Given the description of an element on the screen output the (x, y) to click on. 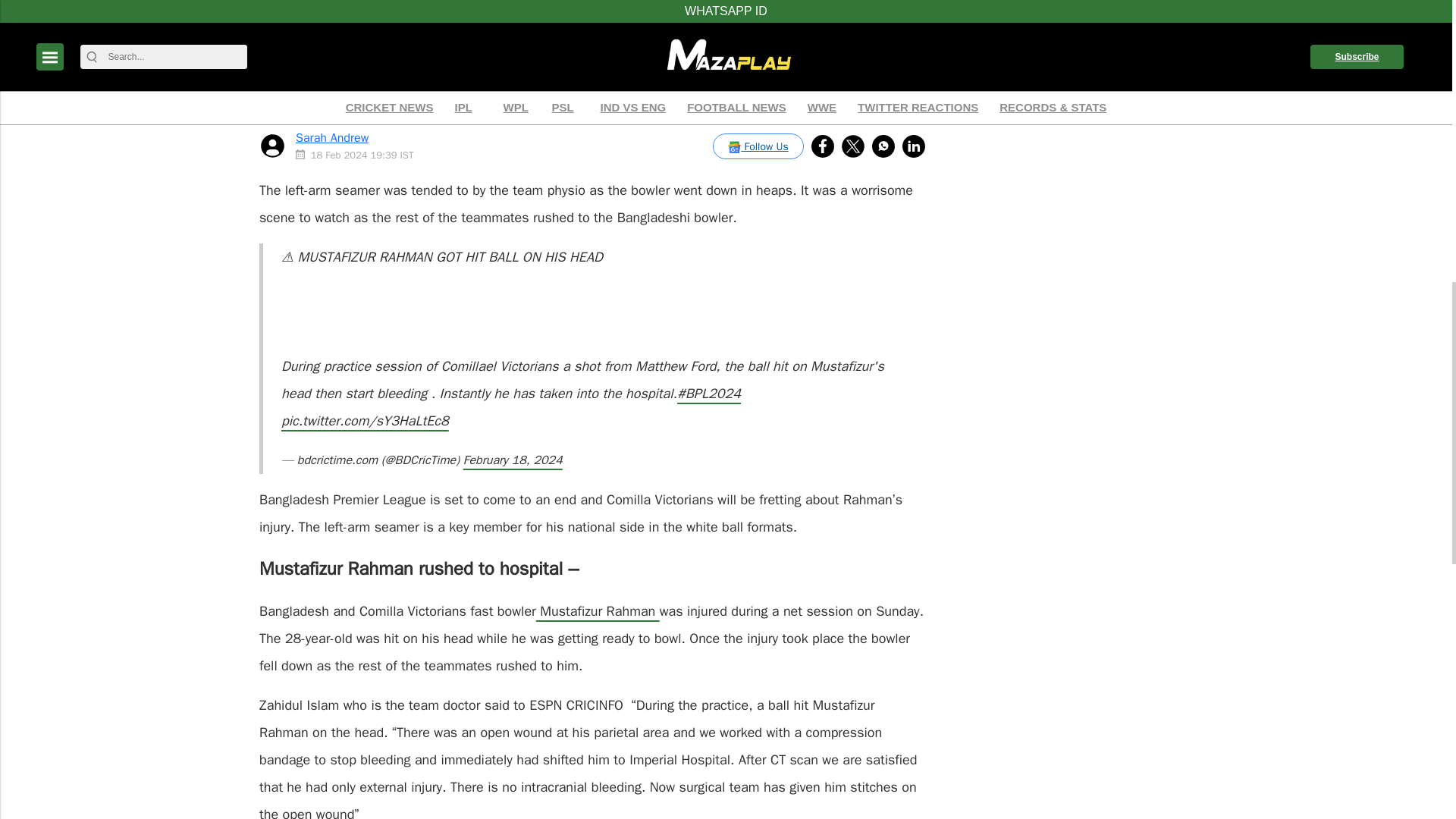
February 18, 2024 (512, 459)
